Given the description of an element on the screen output the (x, y) to click on. 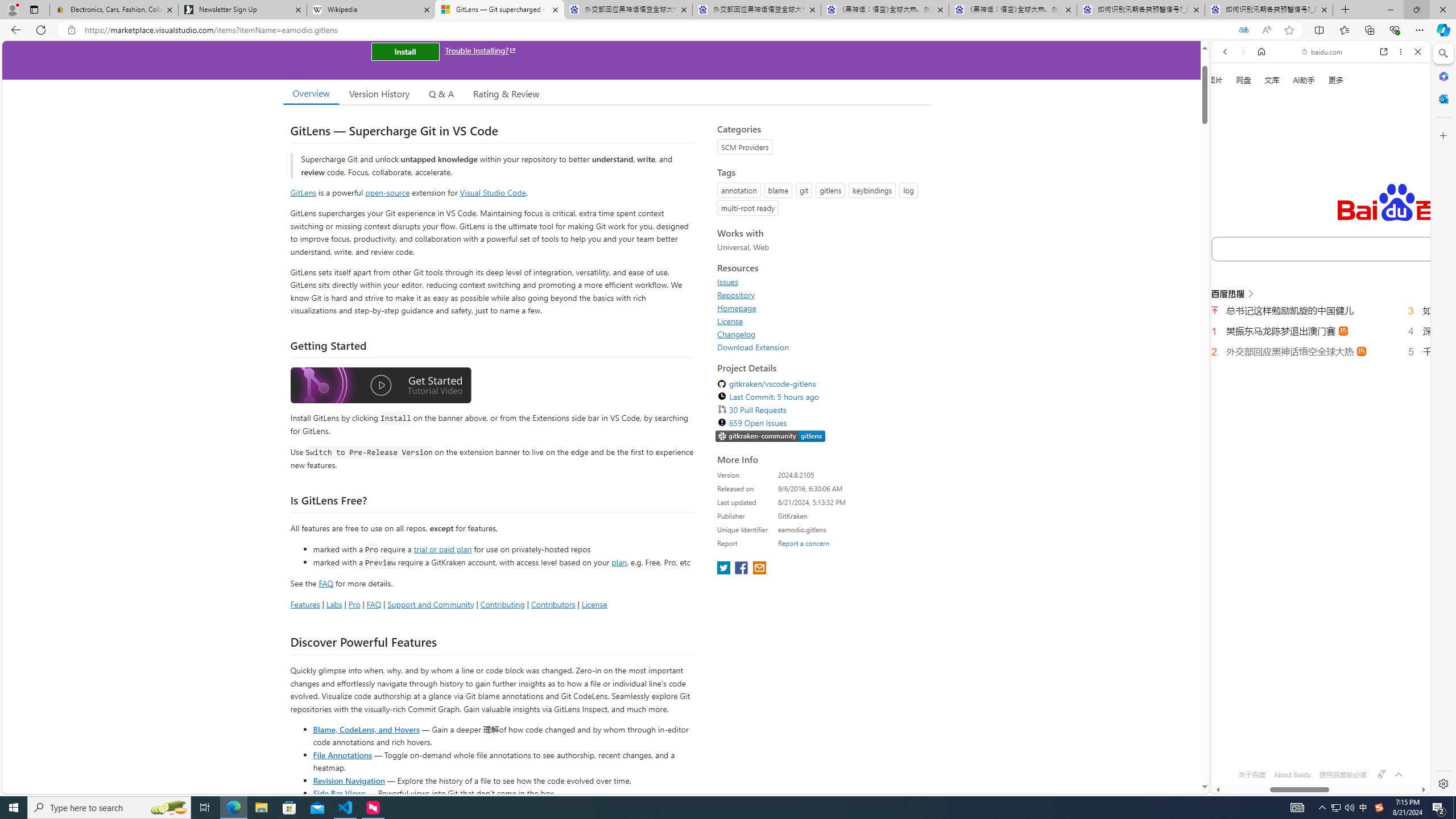
Newsletter Sign Up (242, 9)
OFTV - Enjoy videos from your favorite OF creators! (1315, 753)
Download Extension (753, 346)
Support and Community (430, 603)
Repository (735, 294)
Issues (727, 281)
baidu.com (1323, 51)
